Given the description of an element on the screen output the (x, y) to click on. 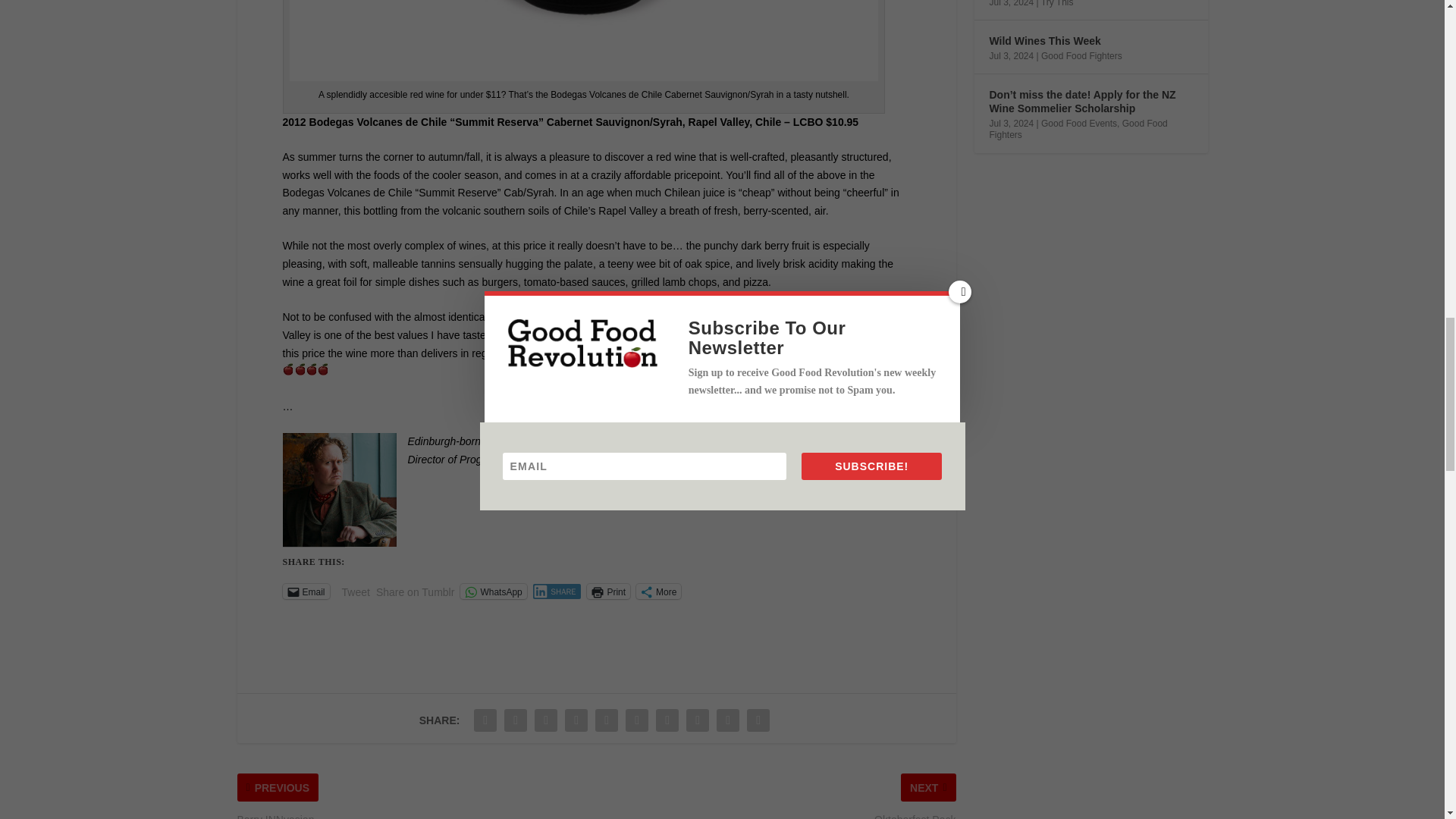
Click to share on WhatsApp (492, 590)
Share on Tumblr (414, 590)
Click to print (608, 590)
Click to email a link to a friend (305, 590)
